Given the description of an element on the screen output the (x, y) to click on. 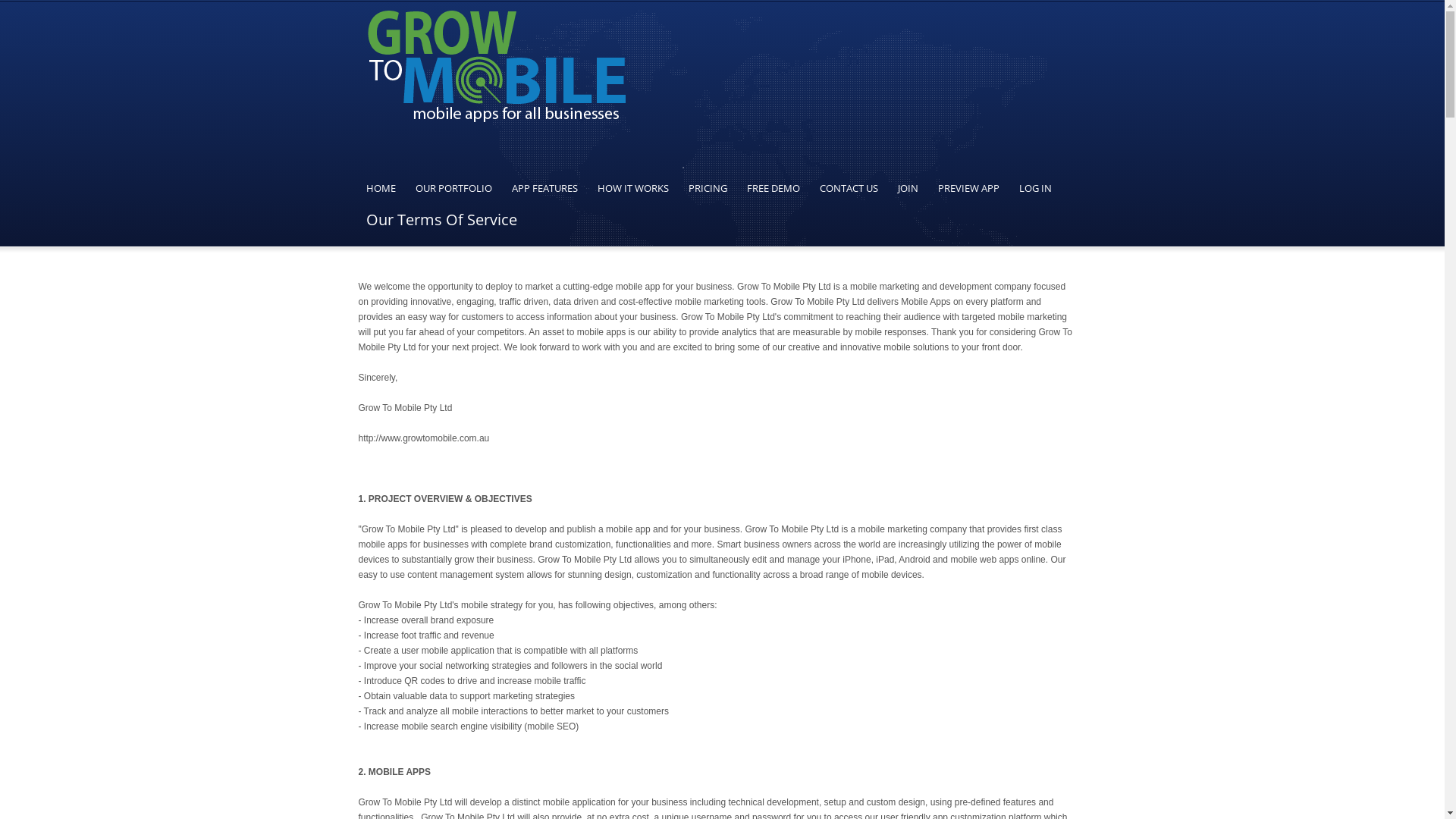
HOW IT WORKS Element type: text (631, 188)
FREE DEMO Element type: text (773, 188)
JOIN Element type: text (907, 188)
HOME Element type: text (384, 188)
PRICING Element type: text (706, 188)
LOG IN Element type: text (1034, 188)
APP FEATURES Element type: text (544, 188)
PREVIEW APP Element type: text (968, 188)
CONTACT US Element type: text (848, 188)
OUR PORTFOLIO Element type: text (452, 188)
